Given the description of an element on the screen output the (x, y) to click on. 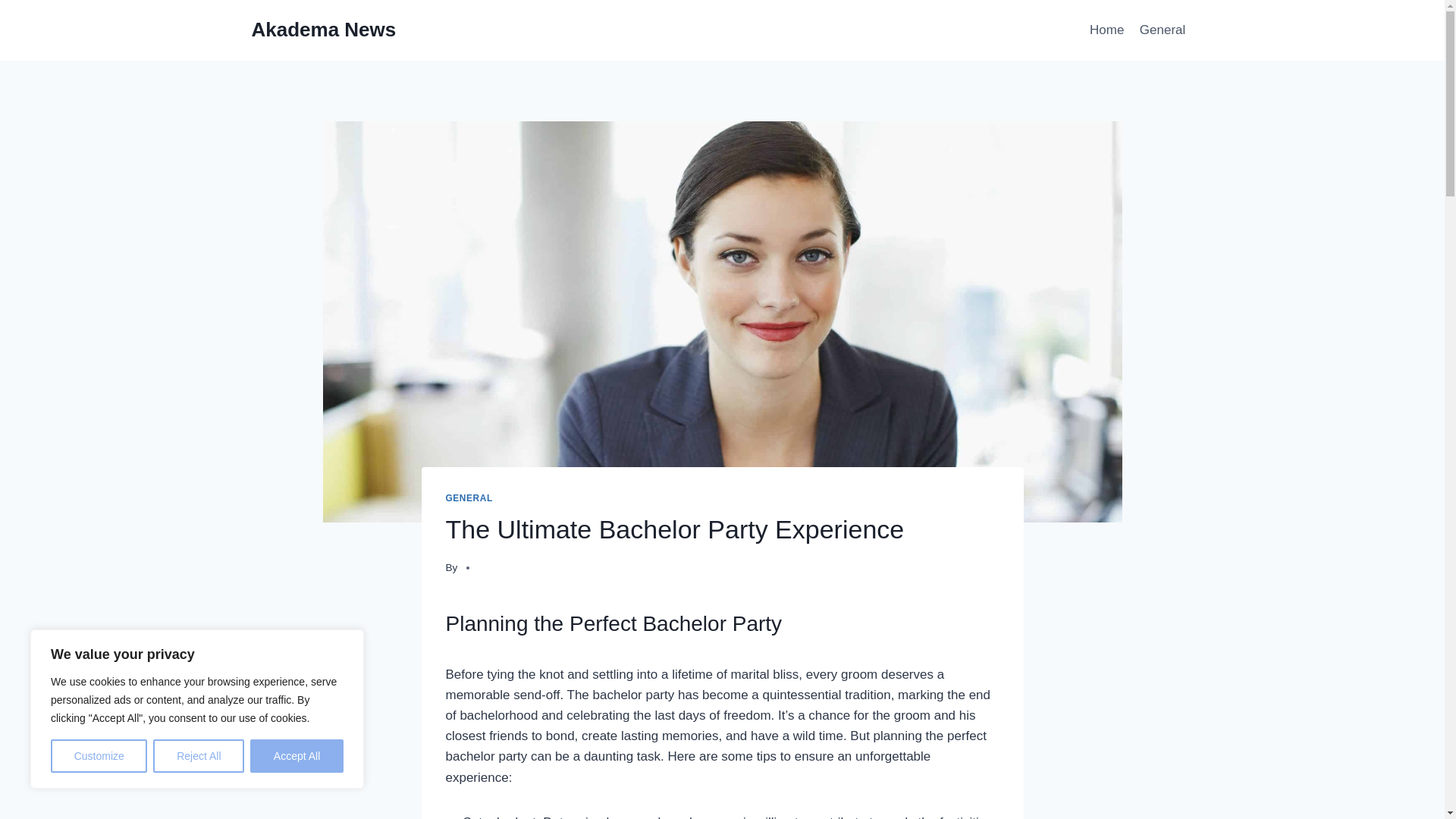
Home (1106, 30)
GENERAL (469, 498)
General (1162, 30)
Accept All (296, 756)
Customize (98, 756)
Reject All (198, 756)
Akadema News (323, 29)
